Given the description of an element on the screen output the (x, y) to click on. 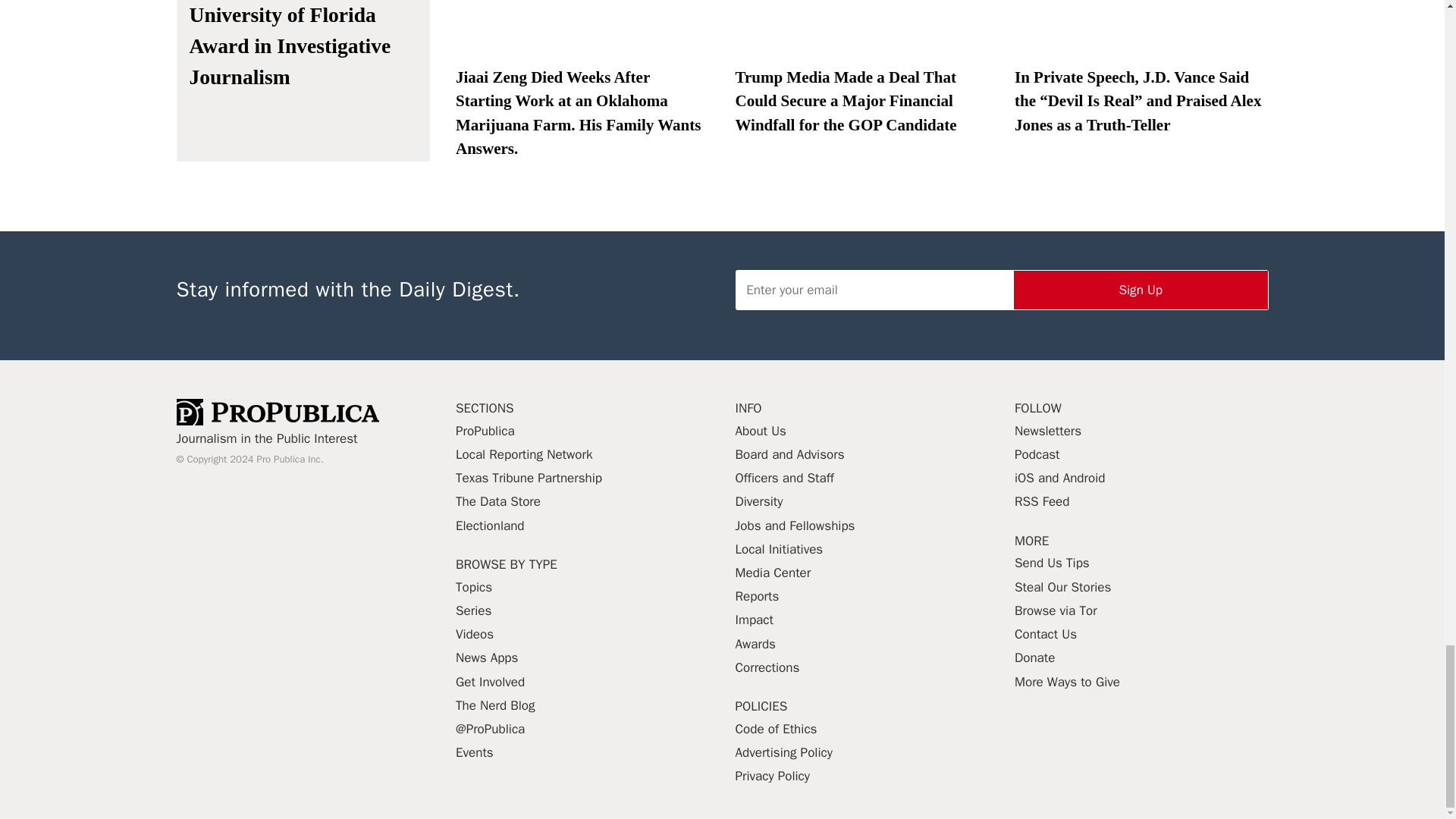
Sign Up (1140, 290)
